Given the description of an element on the screen output the (x, y) to click on. 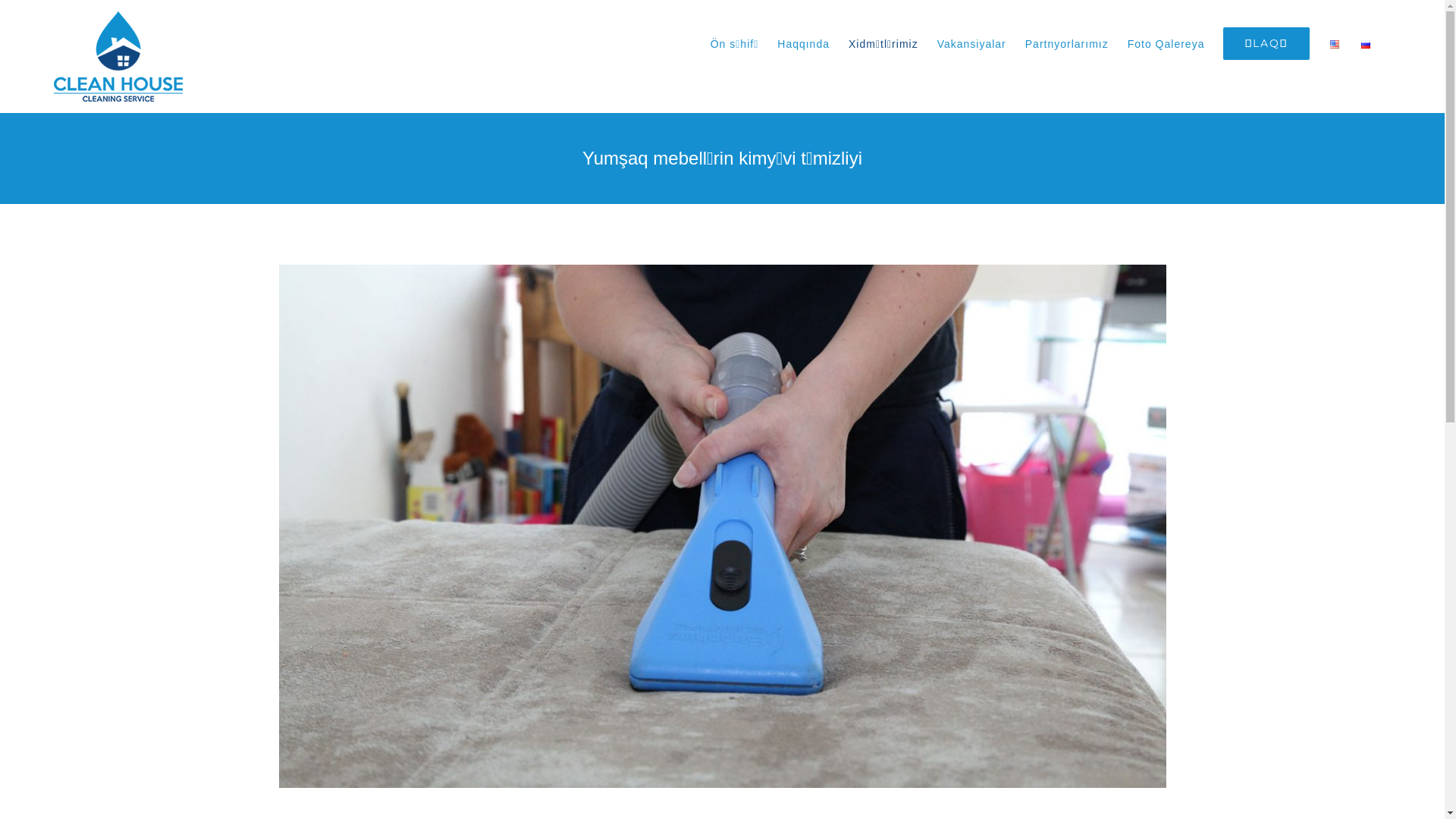
Foto Qalereya Element type: text (1165, 43)
English Element type: hover (1334, 44)
clean-house-furniture Element type: hover (722, 525)
Vakansiyalar Element type: text (971, 43)
